Given the description of an element on the screen output the (x, y) to click on. 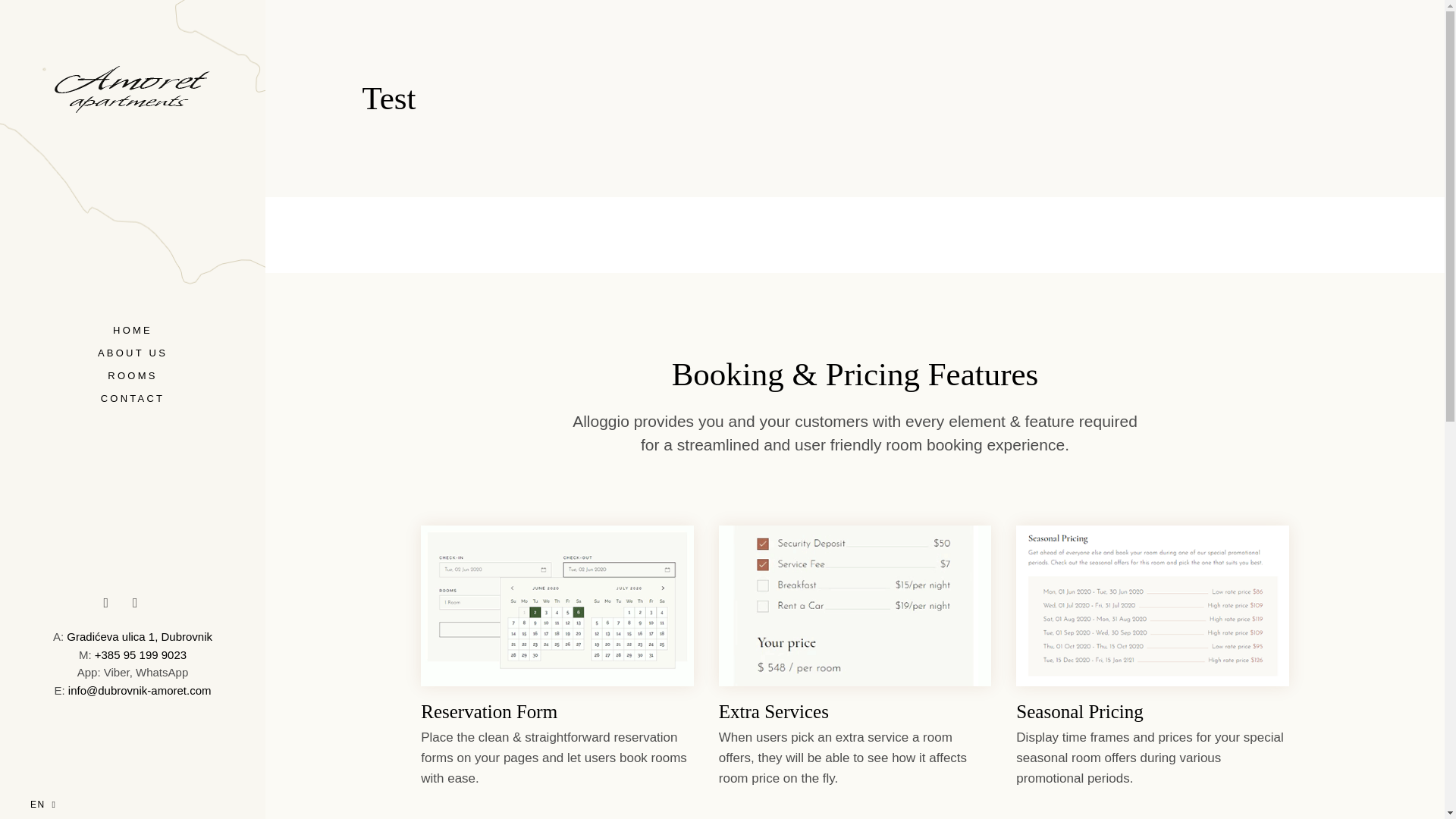
CONTACT (132, 398)
ROOMS (132, 375)
EN (43, 794)
ABOUT US (132, 352)
HOME (132, 329)
